Given the description of an element on the screen output the (x, y) to click on. 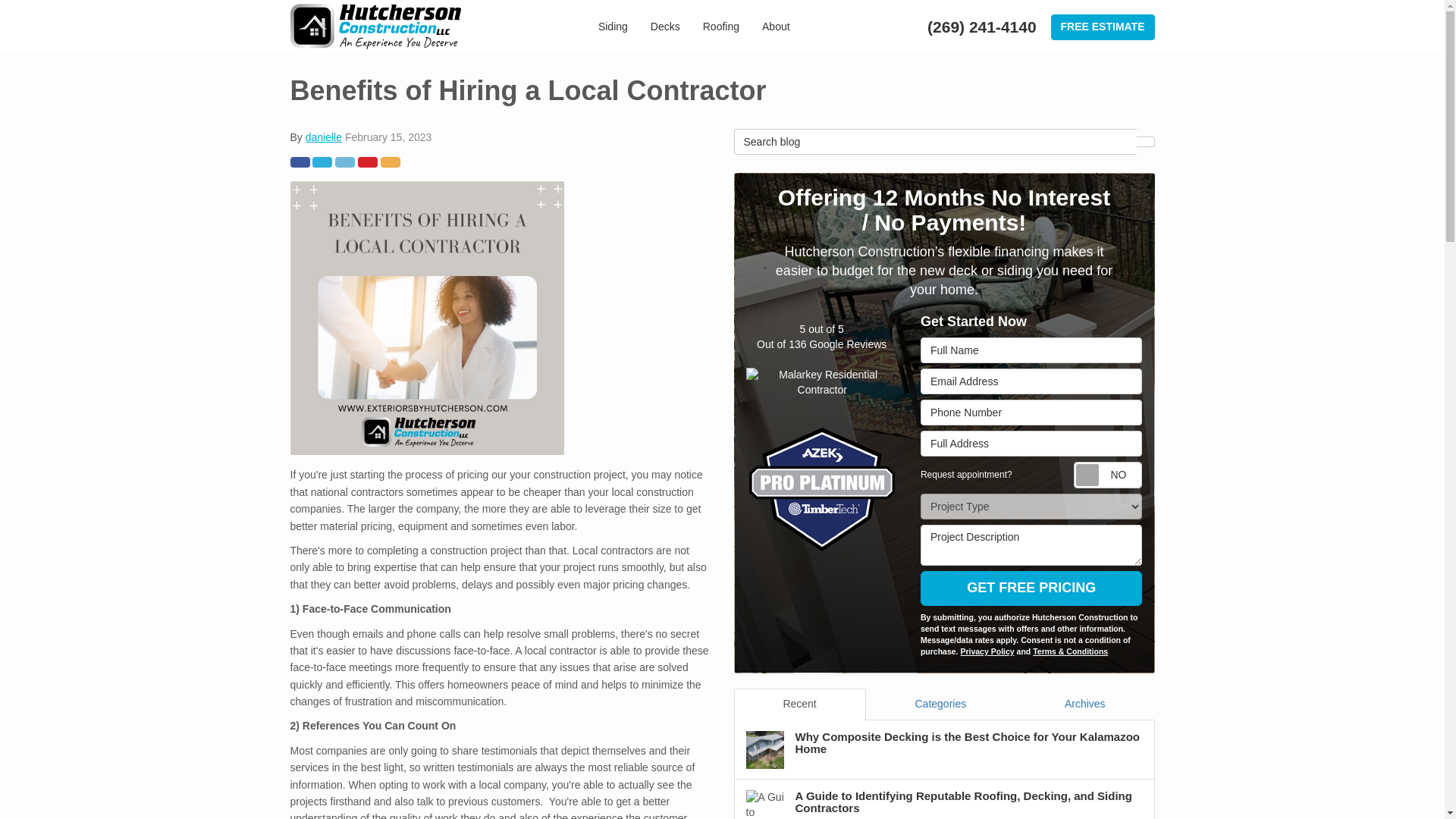
FREE ESTIMATE (1102, 27)
Decks (665, 26)
Roofing (721, 26)
FREE ESTIMATE (1102, 27)
About (776, 26)
Siding (612, 26)
